Given the description of an element on the screen output the (x, y) to click on. 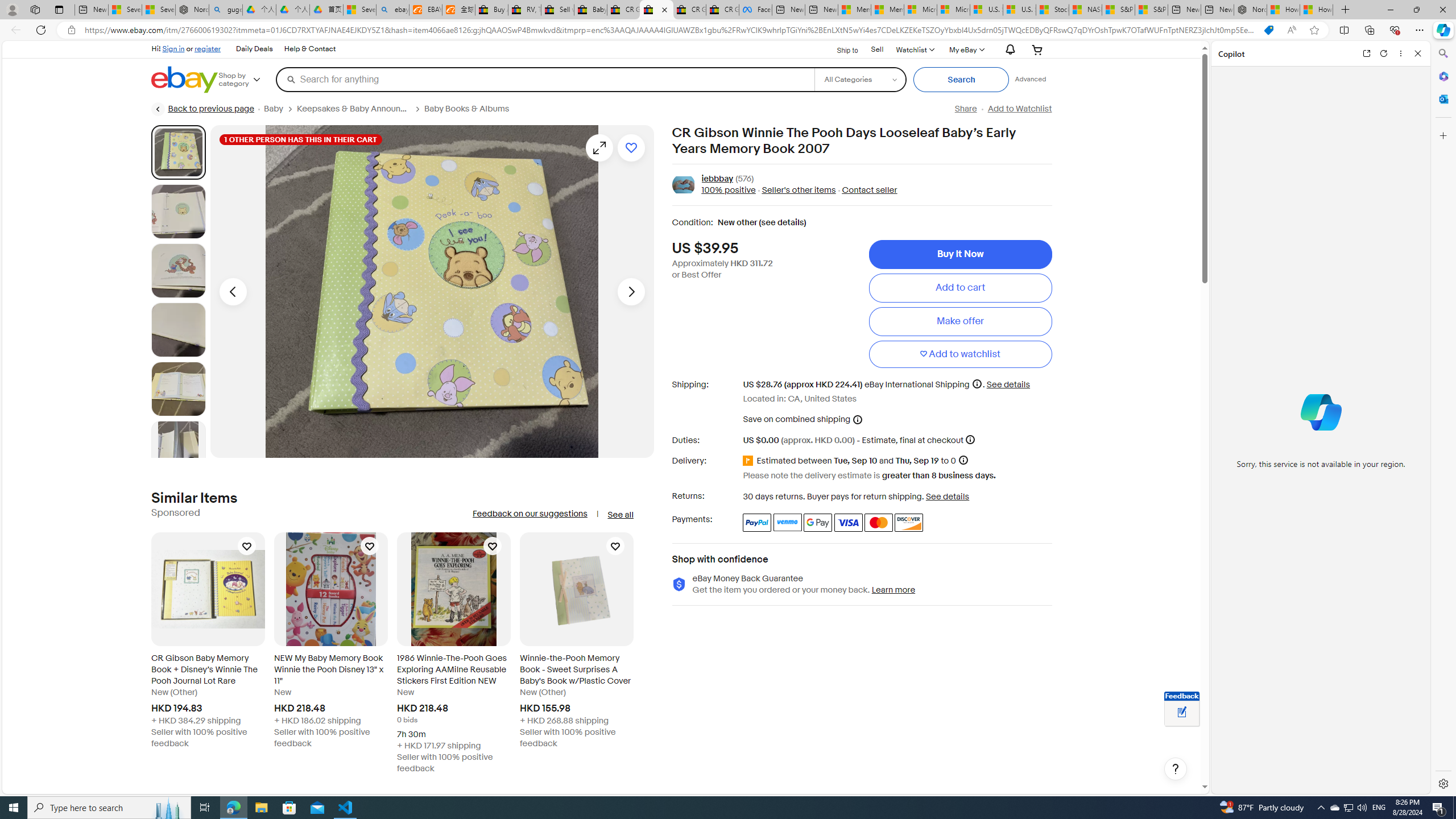
Side bar (1443, 418)
Picture 6 of 22 (178, 448)
Your shopping cart (1037, 49)
Sell worldwide with eBay (557, 9)
Picture 3 of 22 (178, 270)
Picture 5 of 22 (178, 388)
Google Pay (817, 521)
Venmo (787, 521)
Select a category for search (859, 78)
